Given the description of an element on the screen output the (x, y) to click on. 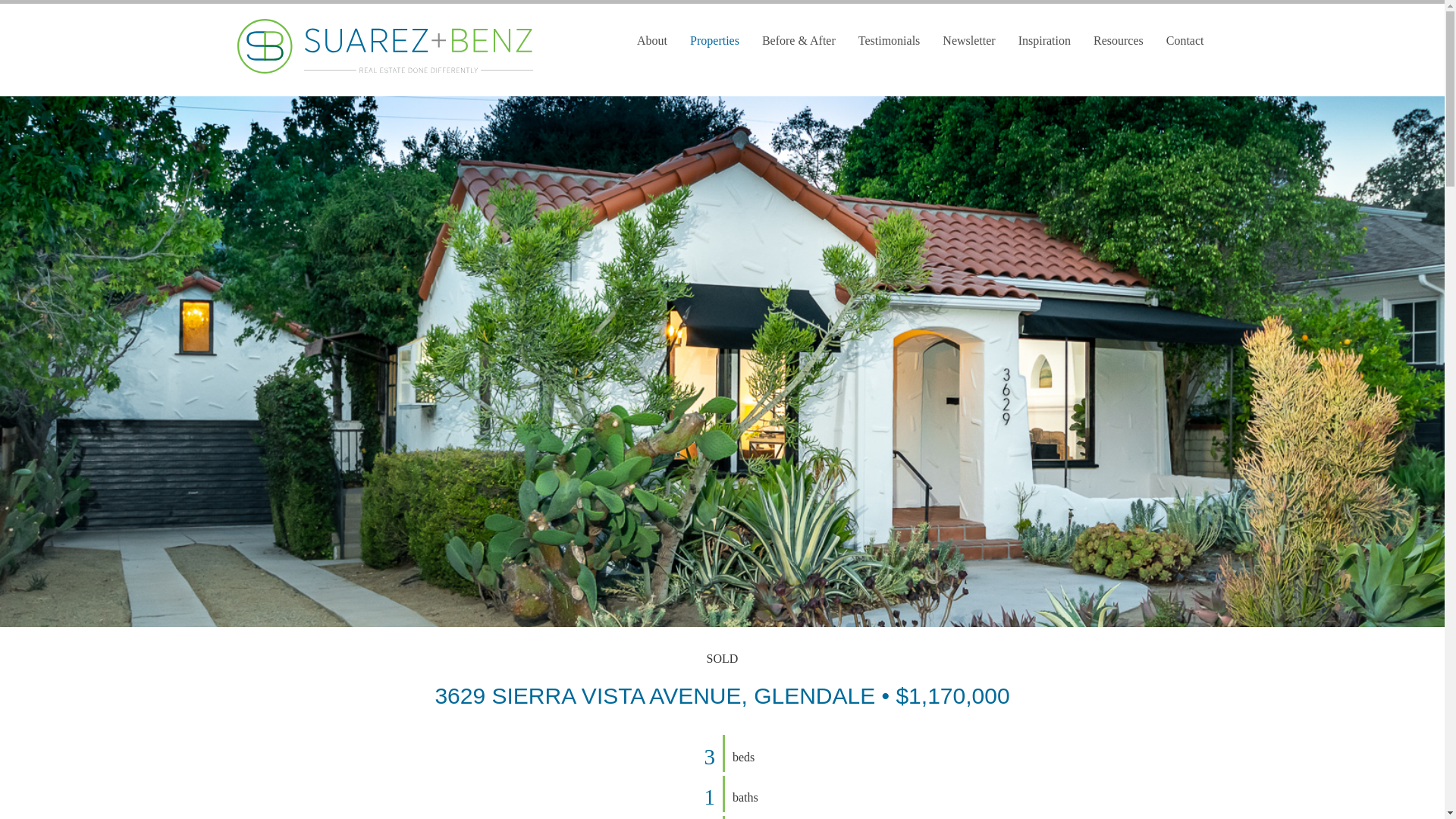
Contact (1184, 40)
Properties (714, 40)
Inspiration (1044, 40)
Resources (1117, 40)
Newsletter (968, 40)
Testimonials (889, 40)
About (652, 40)
